Given the description of an element on the screen output the (x, y) to click on. 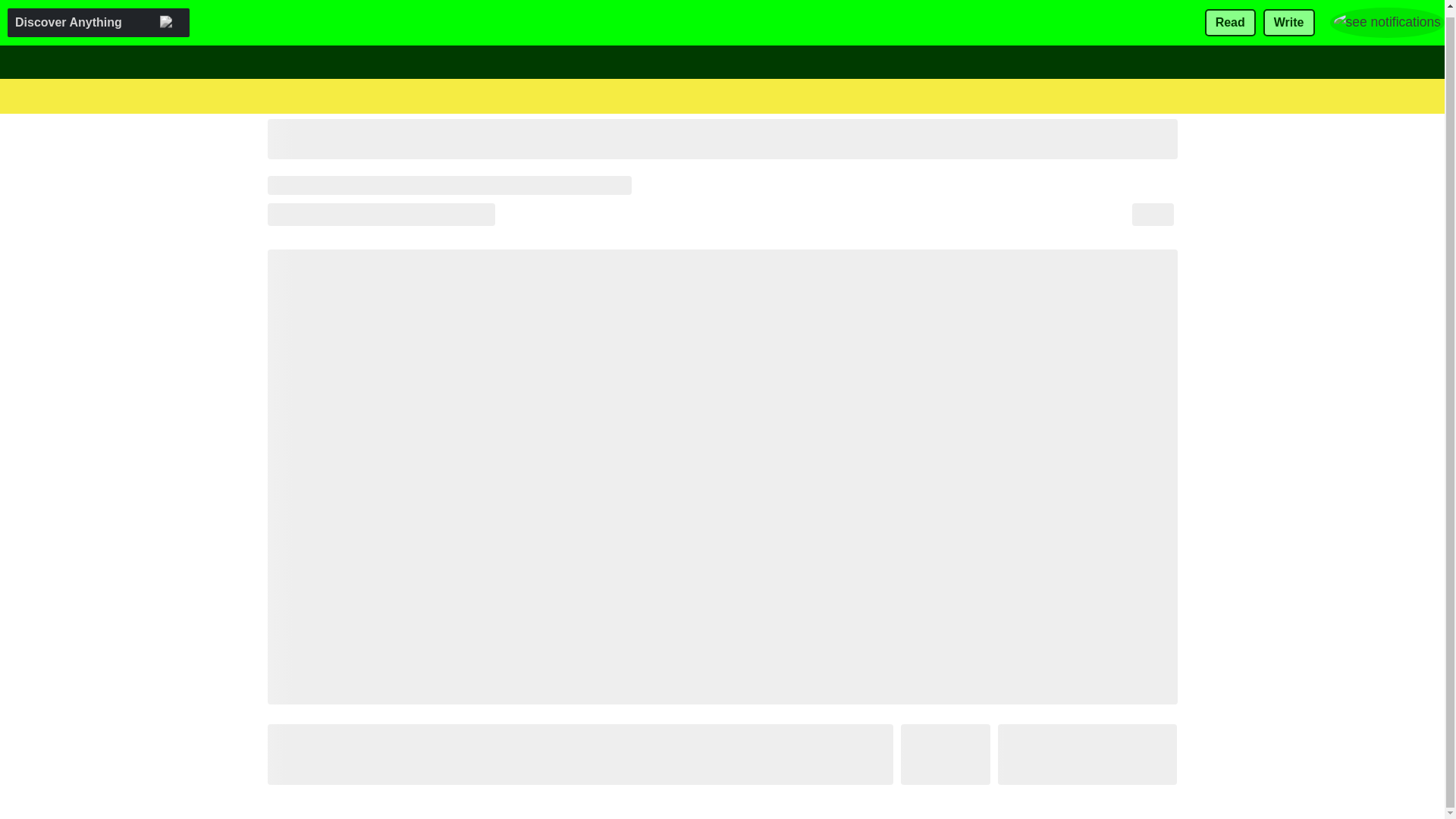
Read (1230, 17)
Write (1288, 17)
